Given the description of an element on the screen output the (x, y) to click on. 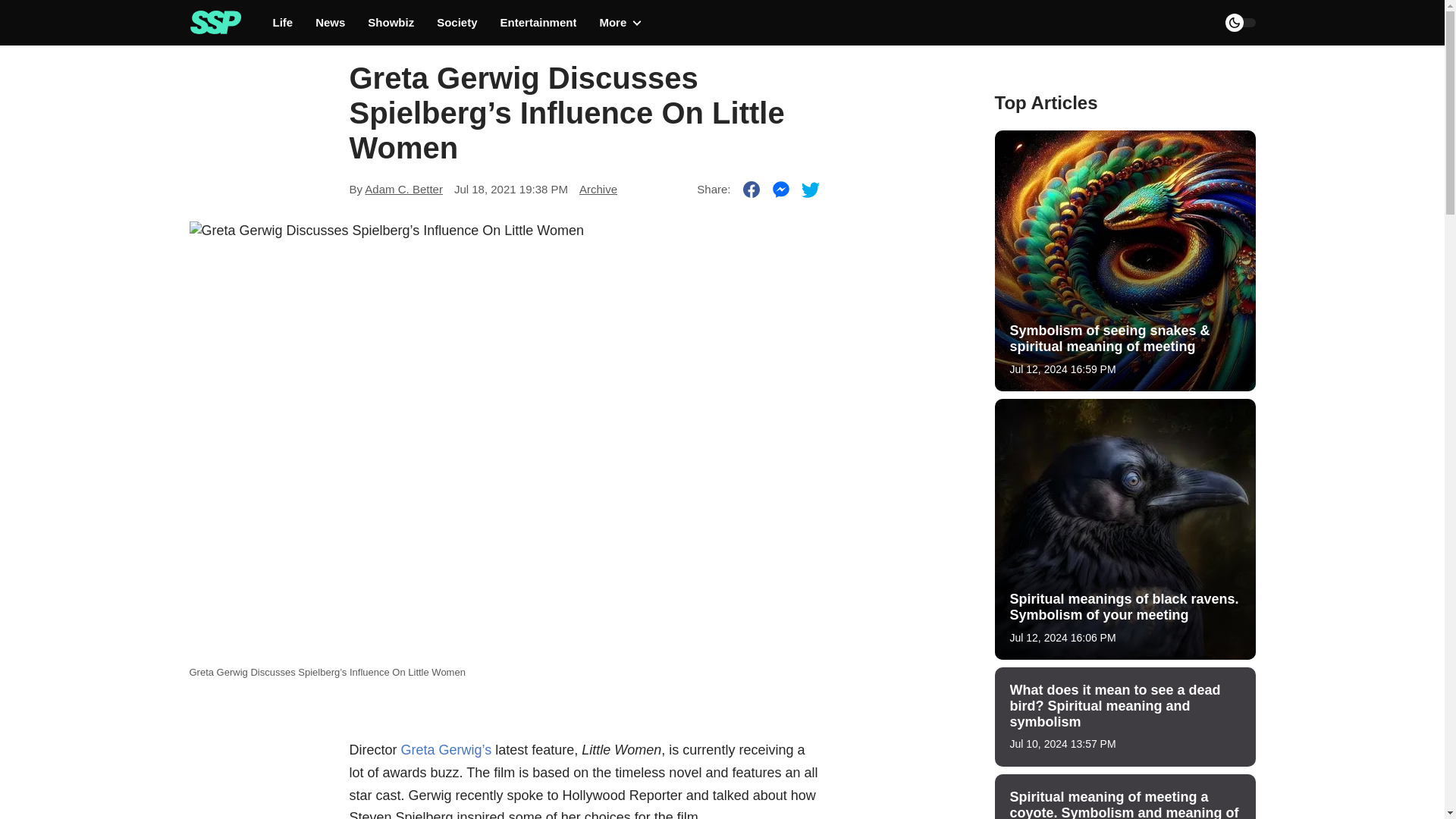
Adam C. Better (403, 188)
News (330, 22)
Society (456, 22)
Life (283, 22)
Entertainment (538, 22)
Archive (598, 188)
Showbiz (390, 22)
